Given the description of an element on the screen output the (x, y) to click on. 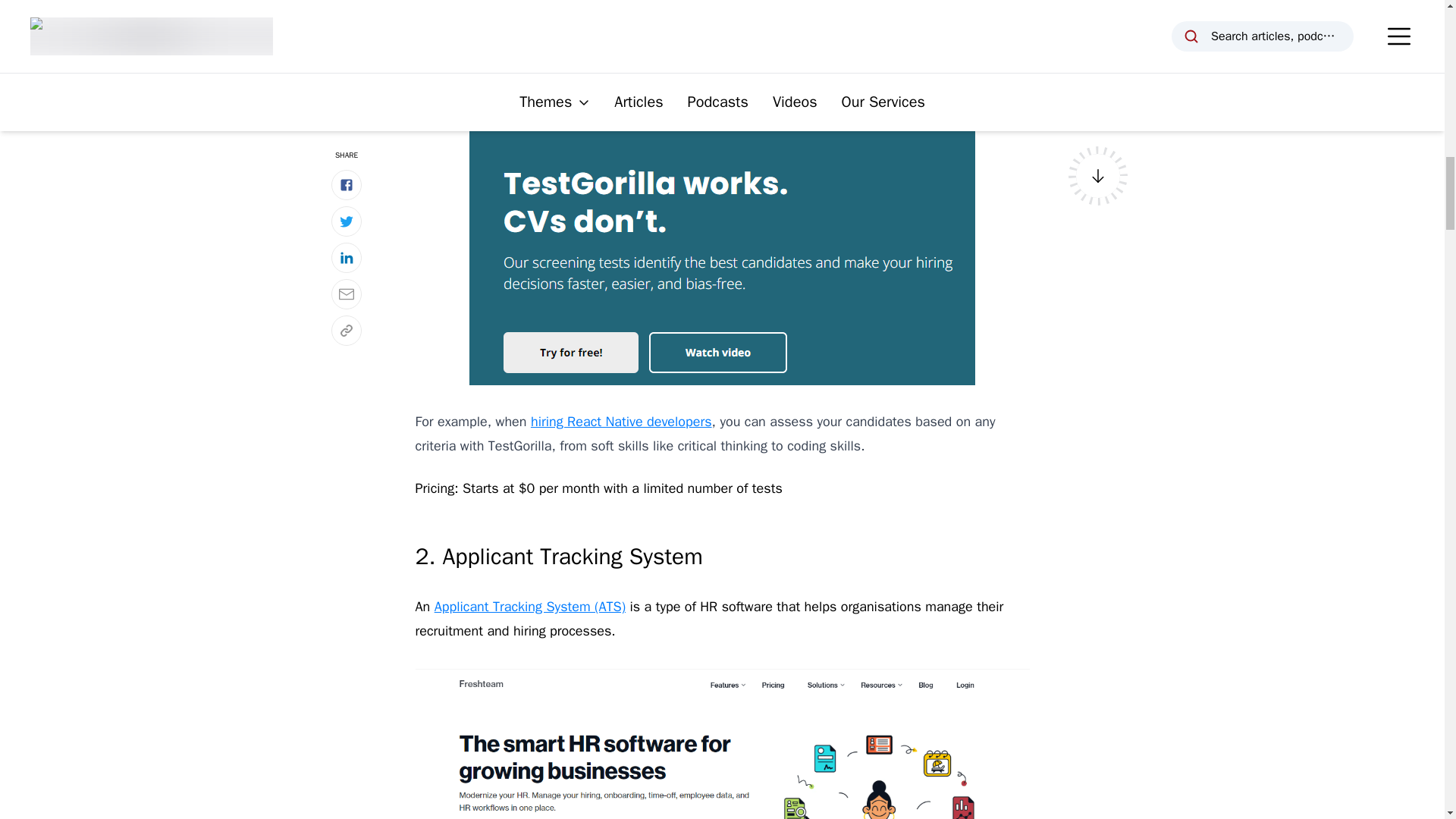
hiring React Native developers (621, 421)
